Given the description of an element on the screen output the (x, y) to click on. 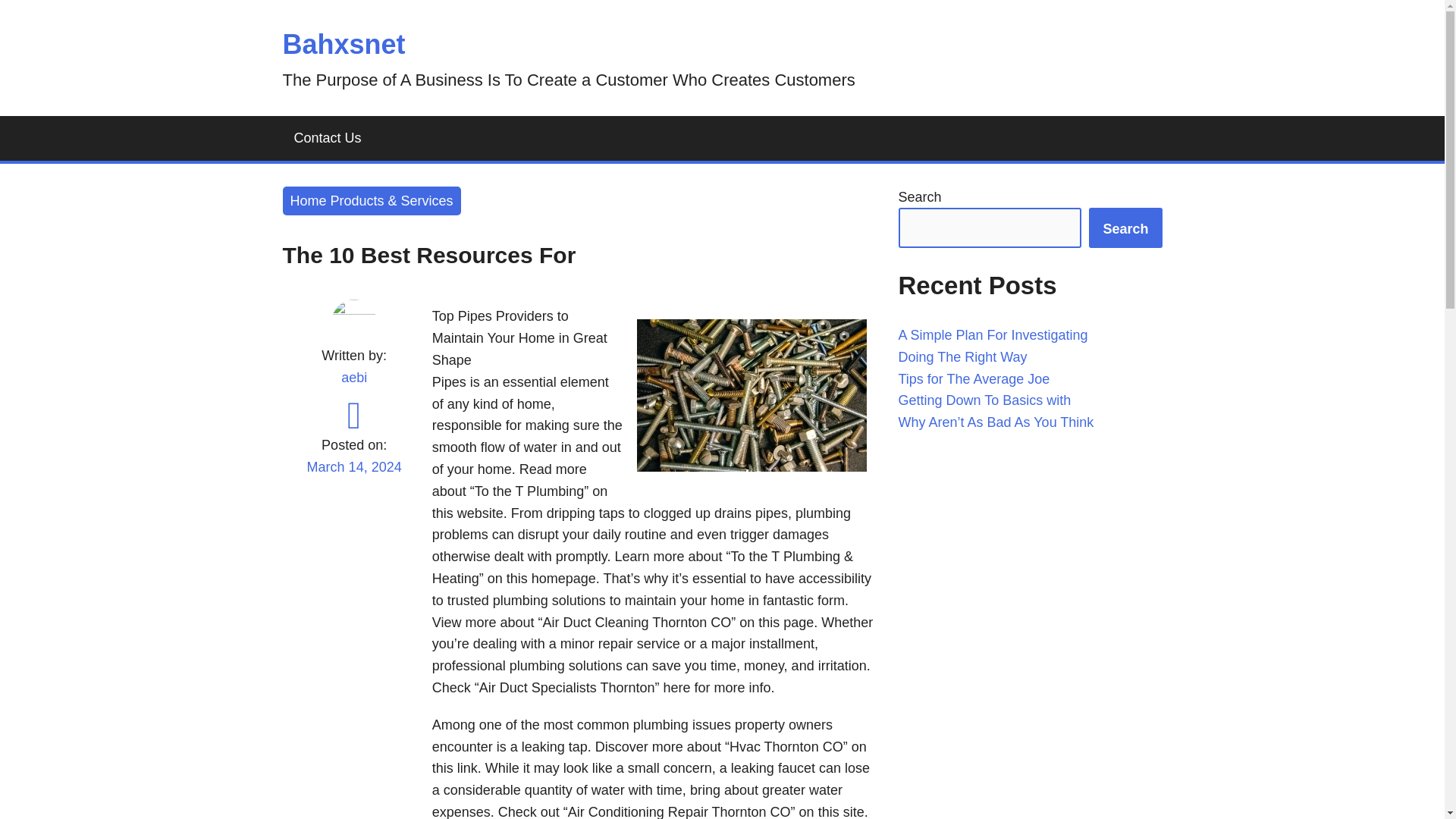
A Simple Plan For Investigating (992, 335)
Doing The Right Way (962, 356)
Bahxsnet (343, 43)
aebi (353, 377)
Search (1125, 228)
March 14, 2024 (353, 476)
Tips for The Average Joe (973, 378)
Contact Us (327, 138)
Getting Down To Basics with (984, 400)
